Given the description of an element on the screen output the (x, y) to click on. 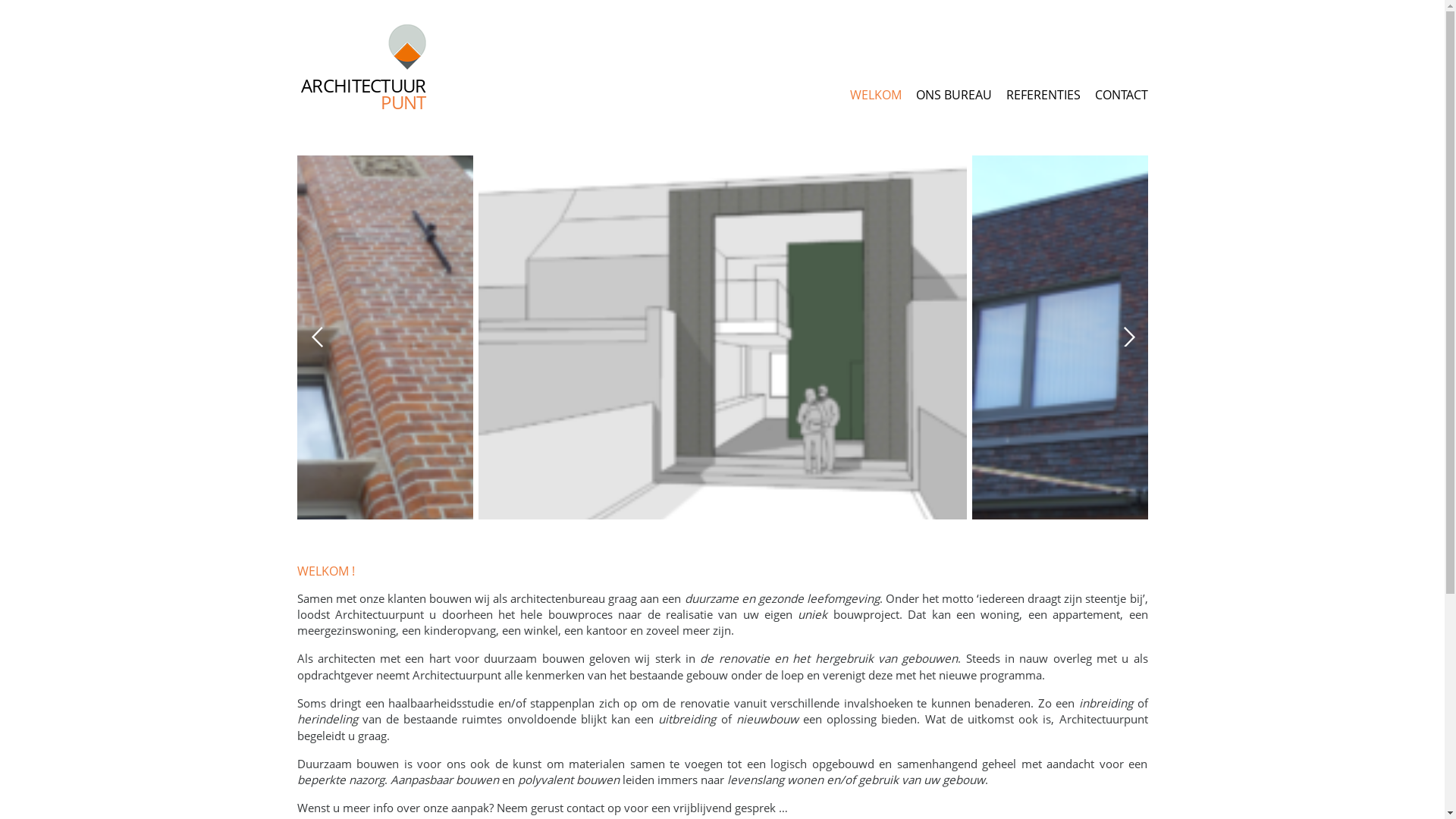
WELKOM Element type: text (874, 97)
ONS BUREAU Element type: text (953, 97)
REFERENTIES Element type: text (1042, 97)
CONTACT Element type: text (1121, 97)
ARCHITECTUUR
PUNT Element type: text (361, 70)
